Given the description of an element on the screen output the (x, y) to click on. 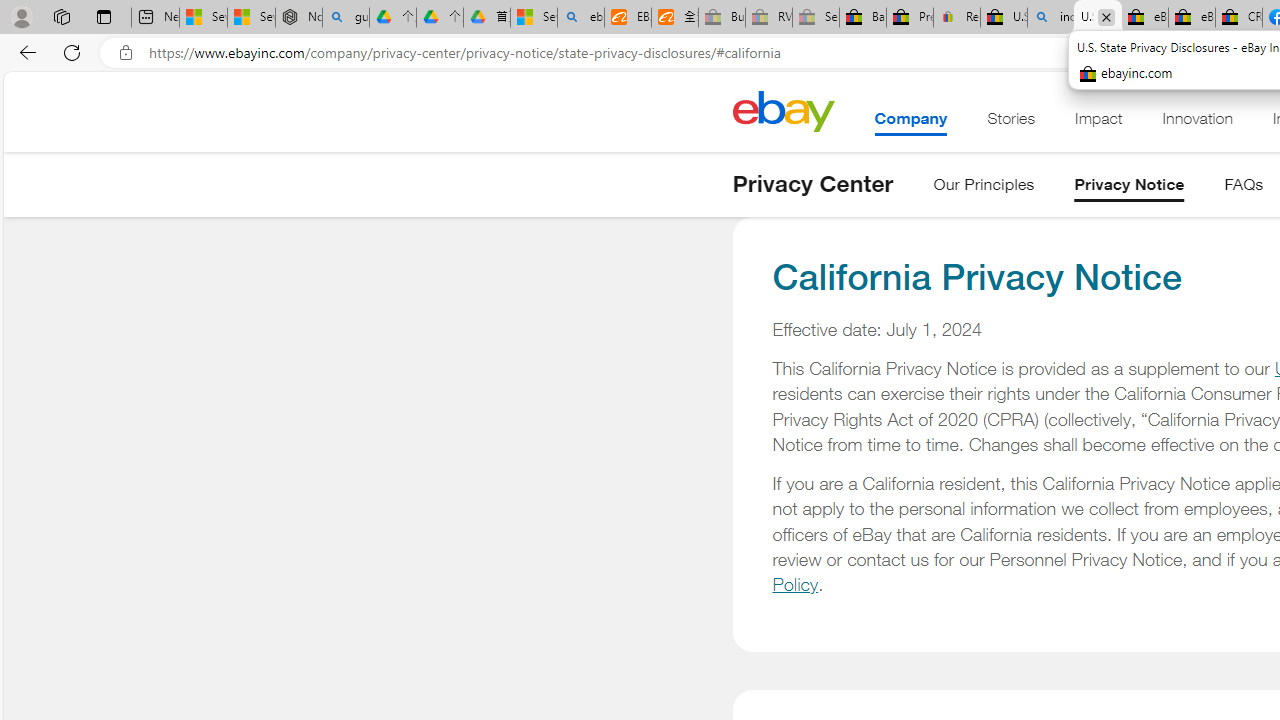
U.S. State Privacy Disclosures - eBay Inc. (1098, 17)
FAQs (1243, 188)
Buy Auto Parts & Accessories | eBay - Sleeping (721, 17)
Our Principles (984, 188)
